Given the description of an element on the screen output the (x, y) to click on. 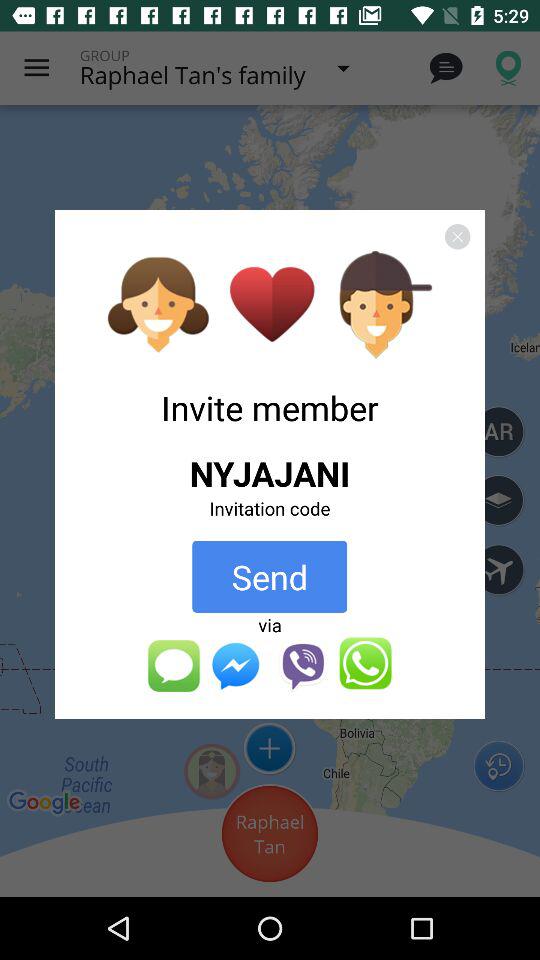
choose the button below the send button (269, 624)
